Given the description of an element on the screen output the (x, y) to click on. 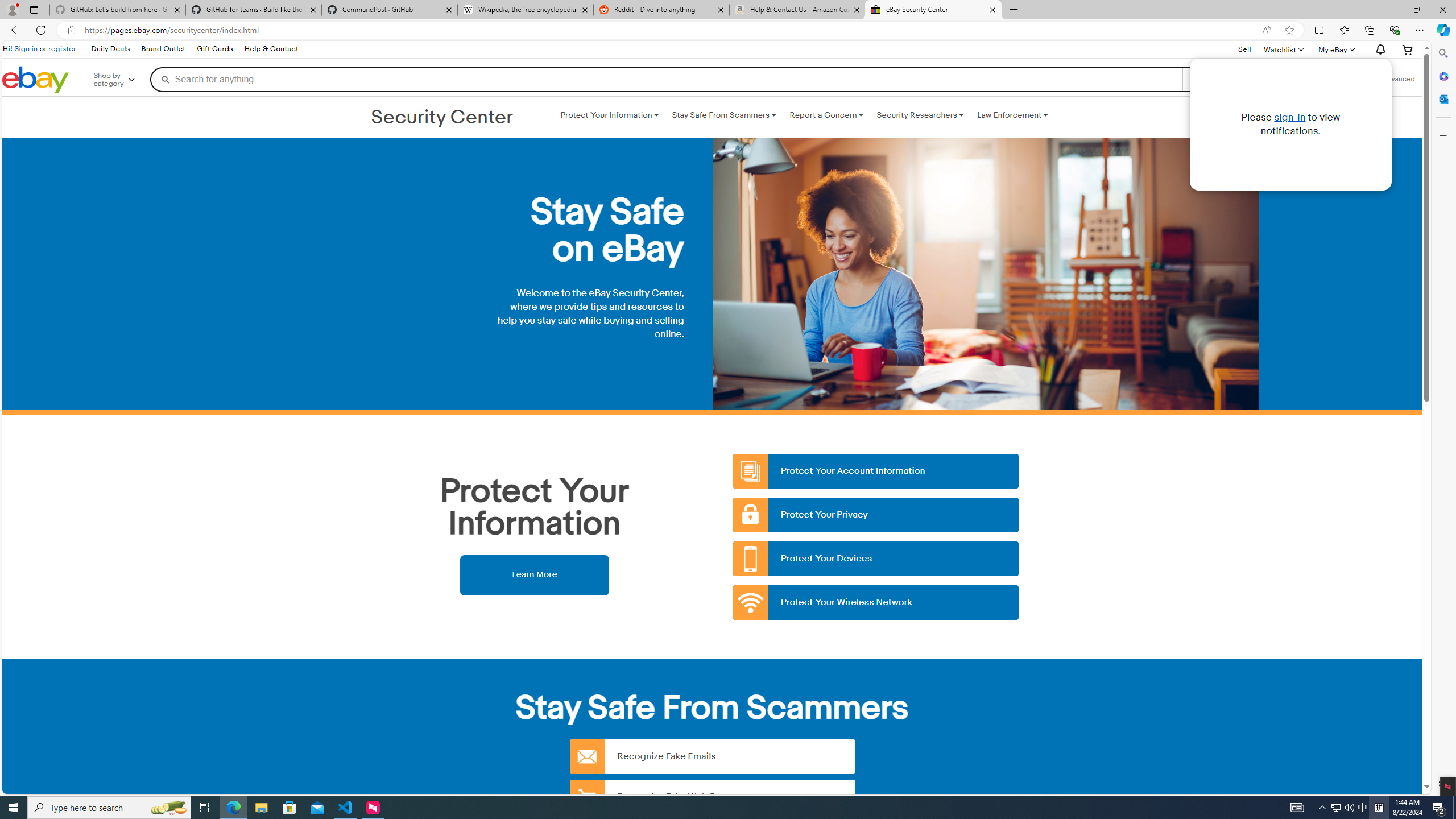
Please sign-in to view notifications. (1378, 49)
Help & Contact (270, 49)
Watchlist (1282, 49)
Protect Your Wireless Network (876, 602)
eBay Home (35, 79)
My eBayExpand My eBay (1335, 49)
Please sign-in to view notifications. (1290, 124)
register (61, 48)
